Given the description of an element on the screen output the (x, y) to click on. 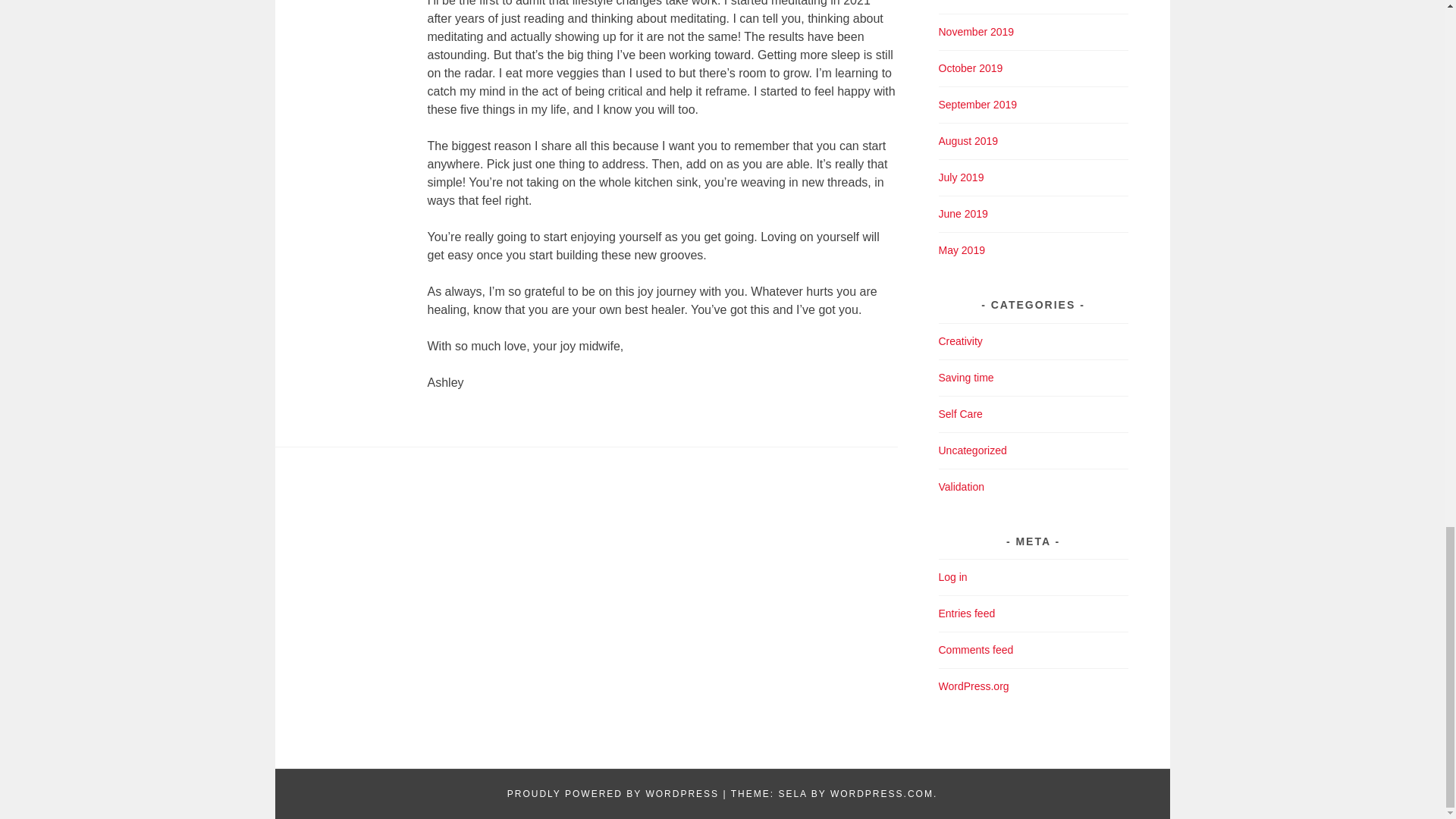
December 2019 (976, 0)
September 2019 (978, 104)
November 2019 (976, 31)
October 2019 (971, 68)
July 2019 (961, 177)
August 2019 (968, 141)
A Semantic Personal Publishing Platform (612, 793)
